Given the description of an element on the screen output the (x, y) to click on. 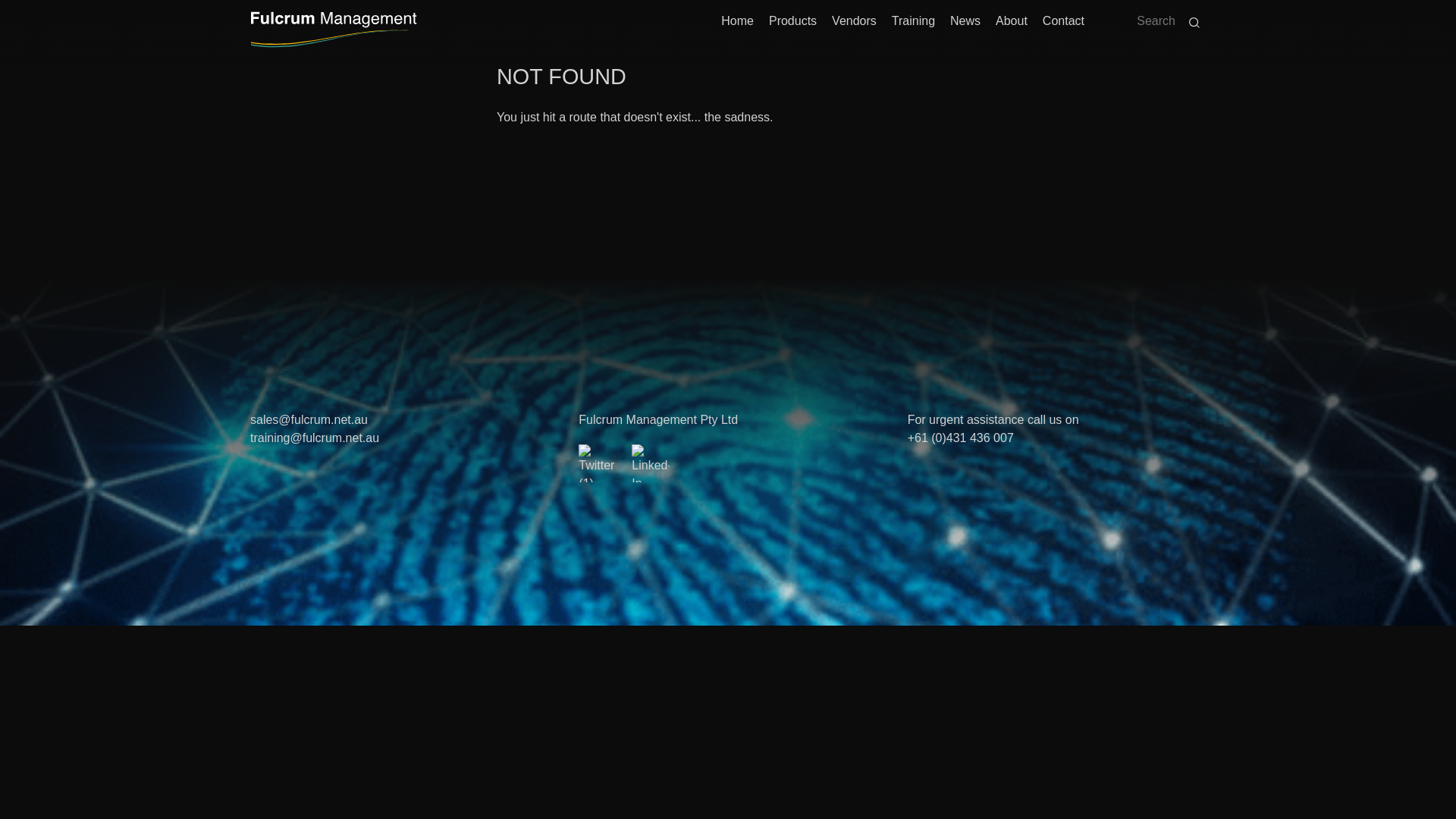
Products Element type: text (792, 23)
News Element type: text (965, 23)
Home Element type: text (737, 23)
About Element type: text (1011, 23)
Vendors Element type: text (853, 23)
Training Element type: text (913, 23)
training@fulcrum.net.au Element type: text (314, 437)
sales@fulcrum.net.au Element type: text (308, 419)
Contact Element type: text (1063, 23)
